Given the description of an element on the screen output the (x, y) to click on. 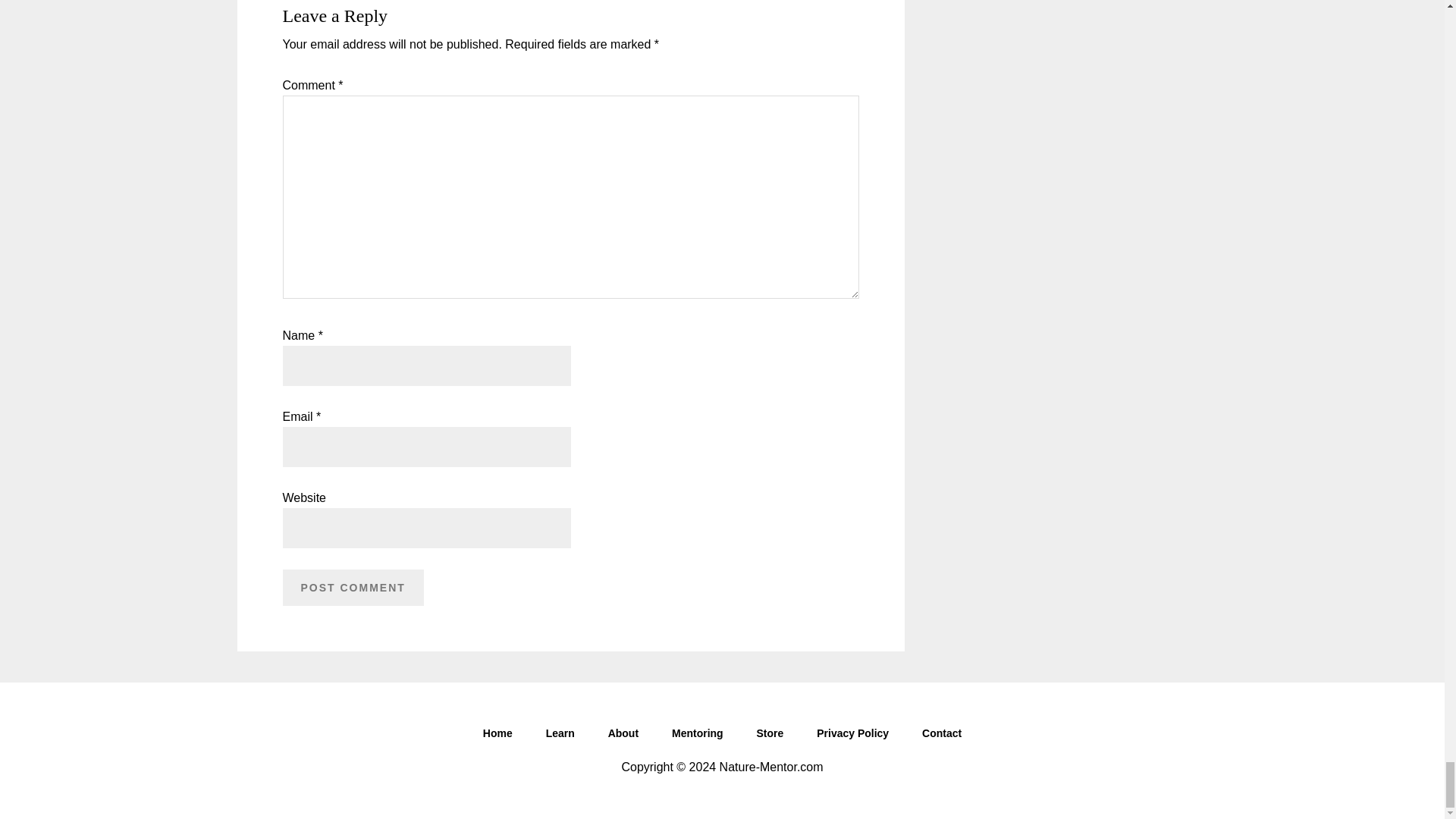
Post Comment (352, 587)
